Given the description of an element on the screen output the (x, y) to click on. 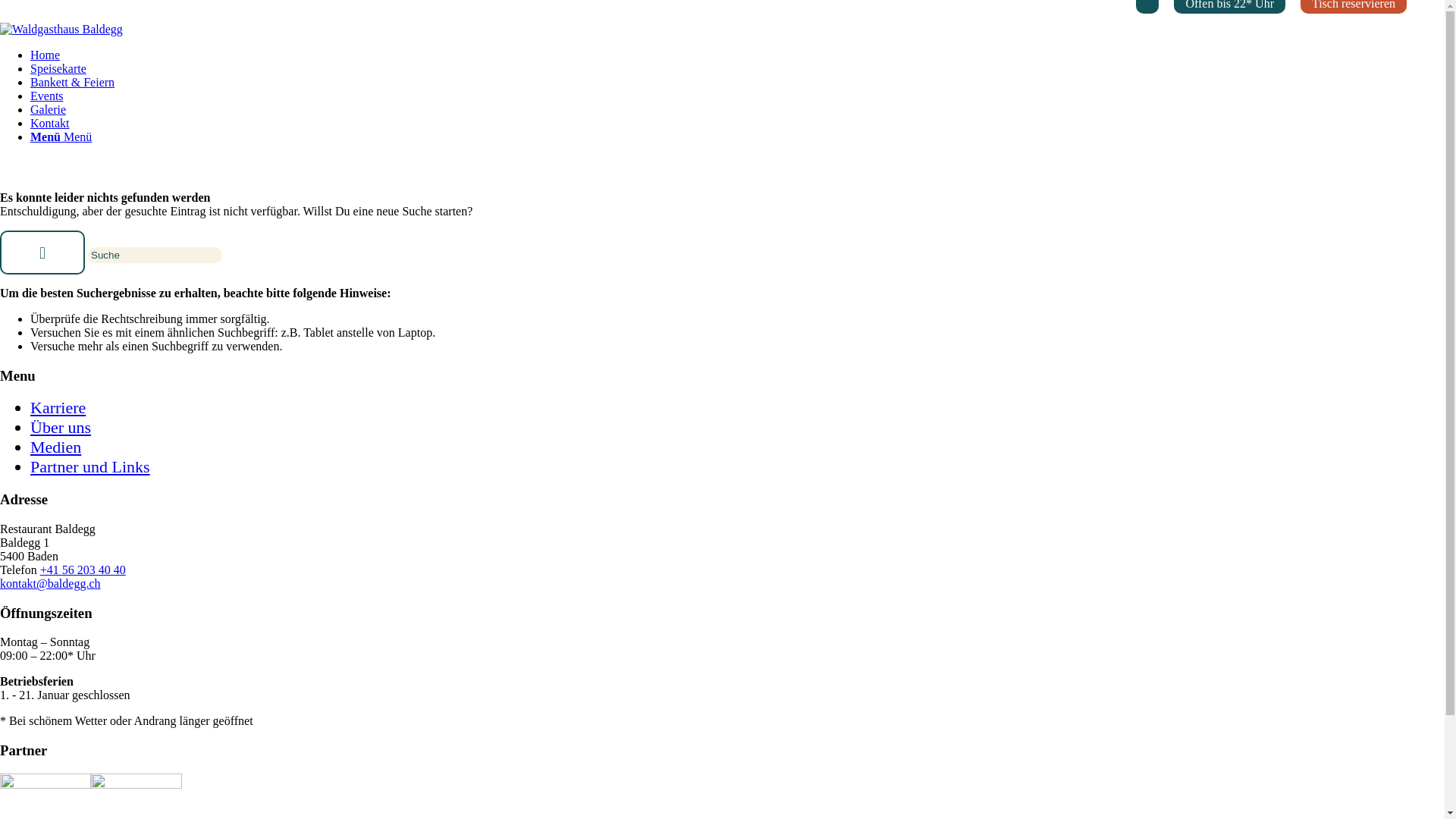
Partner und Links Element type: text (90, 466)
kontakt@baldegg.ch Element type: text (50, 583)
Home Element type: text (44, 54)
Kontakt Element type: text (49, 122)
Speisekarte Element type: text (58, 68)
Medien Element type: text (55, 446)
Restaurant-Baldegg-Logo-Farbig-spacing Element type: hover (61, 29)
+41 56 203 40 40 Element type: text (82, 569)
Restaurant-Baldegg-Logo-Farbig-spacing Element type: hover (61, 28)
Events Element type: text (46, 95)
Galerie Element type: text (47, 109)
Bankett & Feiern Element type: text (72, 81)
Karriere Element type: text (57, 407)
